Given the description of an element on the screen output the (x, y) to click on. 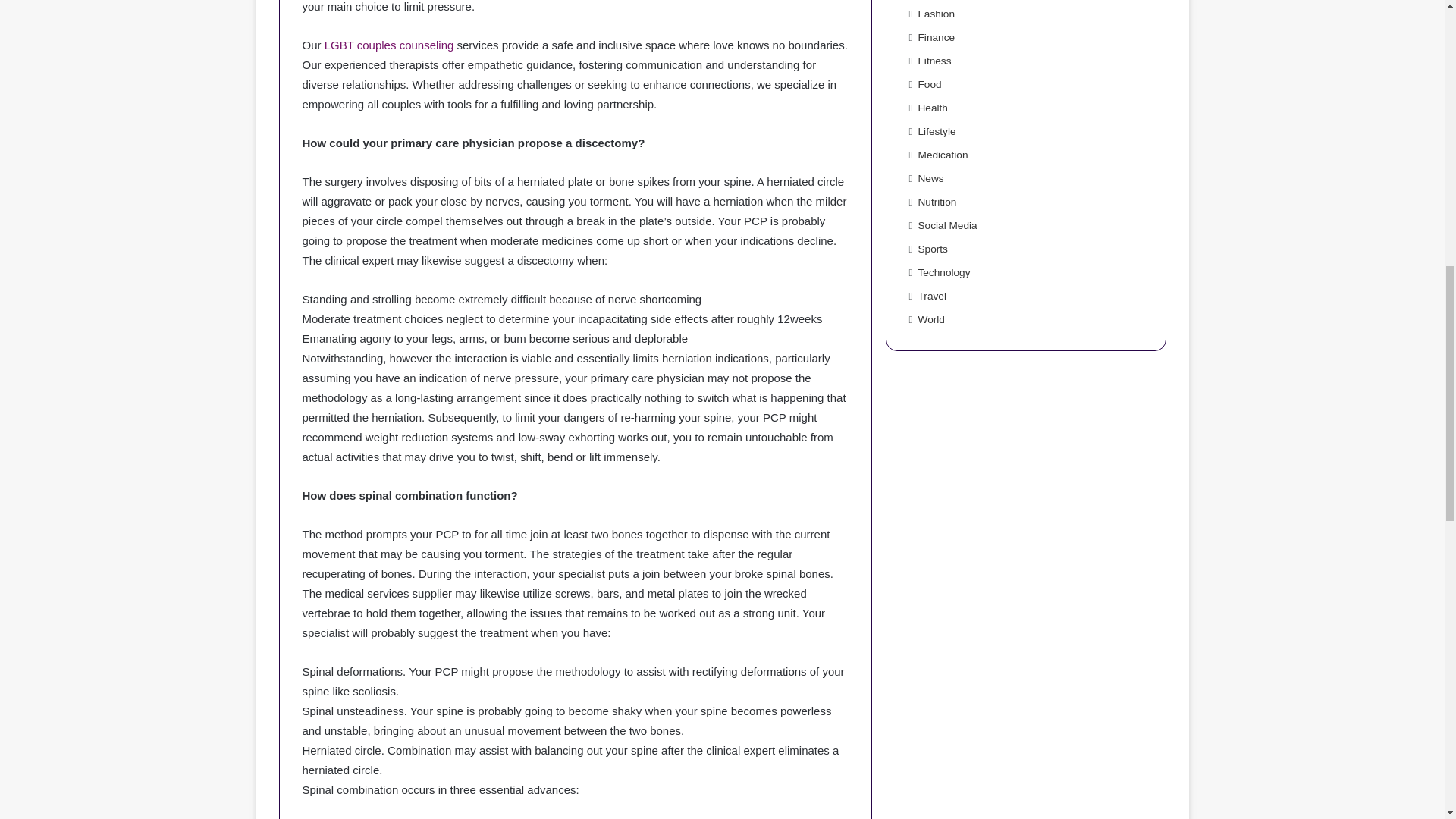
LGBT couples counseling (389, 44)
